Given the description of an element on the screen output the (x, y) to click on. 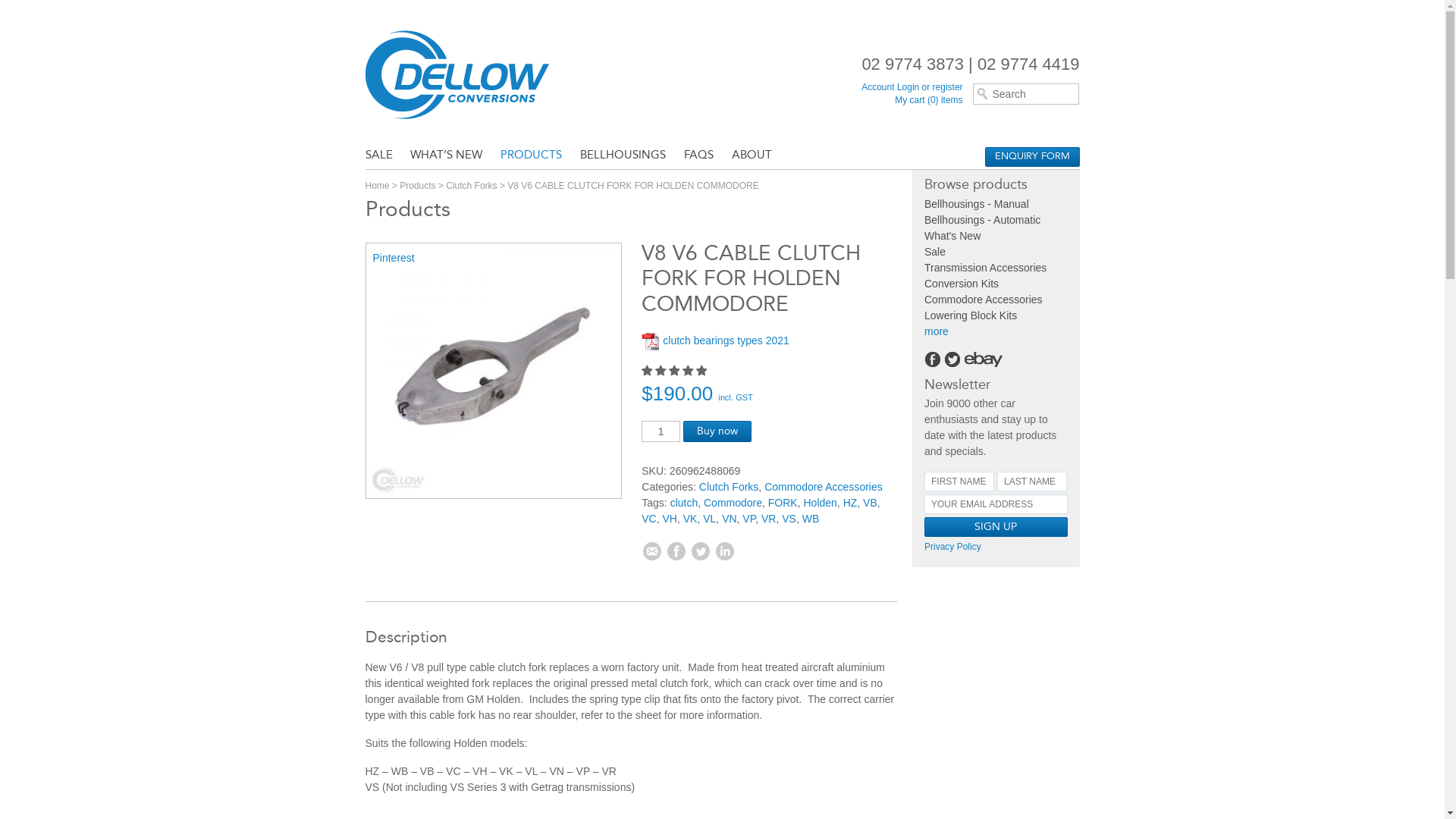
My cart (0) items Element type: text (928, 99)
VK Element type: text (690, 518)
BELLHOUSINGS Element type: text (622, 156)
Home Element type: text (377, 185)
VR Element type: text (768, 518)
Facebook Element type: text (676, 551)
VC Element type: text (648, 518)
Sign up Element type: text (995, 526)
Twitter Element type: text (700, 551)
Clutch Forks Element type: text (729, 486)
submit Element type: text (858, 610)
VL Element type: text (708, 518)
VB Element type: text (869, 502)
WB Element type: text (810, 518)
Email Element type: text (652, 551)
Privacy Policy Element type: text (952, 546)
more Element type: text (936, 331)
FORK Element type: text (782, 502)
VN Element type: text (728, 518)
ABOUT Element type: text (751, 156)
Search Element type: text (53, 10)
Bellhousings - Automatic Element type: text (982, 219)
clutch bearings types 2021 Element type: text (715, 341)
Conversion Kits Element type: text (961, 283)
Account Login or register Element type: text (911, 86)
Products Element type: text (417, 185)
Pinterest Element type: text (393, 257)
ENQUIRY FORM Element type: text (1031, 156)
FAQS Element type: text (698, 156)
Commodore Accessories Element type: text (983, 299)
VS Element type: text (788, 518)
Linkedin Element type: text (724, 551)
Clutch Forks Element type: text (470, 185)
VP Element type: text (748, 518)
Sale Element type: text (934, 251)
clutch Element type: text (684, 502)
Lowering Block Kits Element type: text (970, 315)
What's New Element type: text (952, 235)
HZ Element type: text (850, 502)
SALE Element type: text (382, 156)
PRODUCTS Element type: text (530, 156)
Commodore Accessories Element type: text (823, 486)
Transmission Accessories Element type: text (985, 267)
VH Element type: text (669, 518)
Commodore Element type: text (732, 502)
Holden WB HZ Commodore V6 / V8 Clutch Fork & Clip Element type: hover (493, 370)
Holden Element type: text (819, 502)
Qty Element type: hover (660, 431)
Buy now Element type: text (717, 431)
Bellhousings - Manual Element type: text (976, 203)
Dellow Conversions Element type: hover (479, 74)
